Given the description of an element on the screen output the (x, y) to click on. 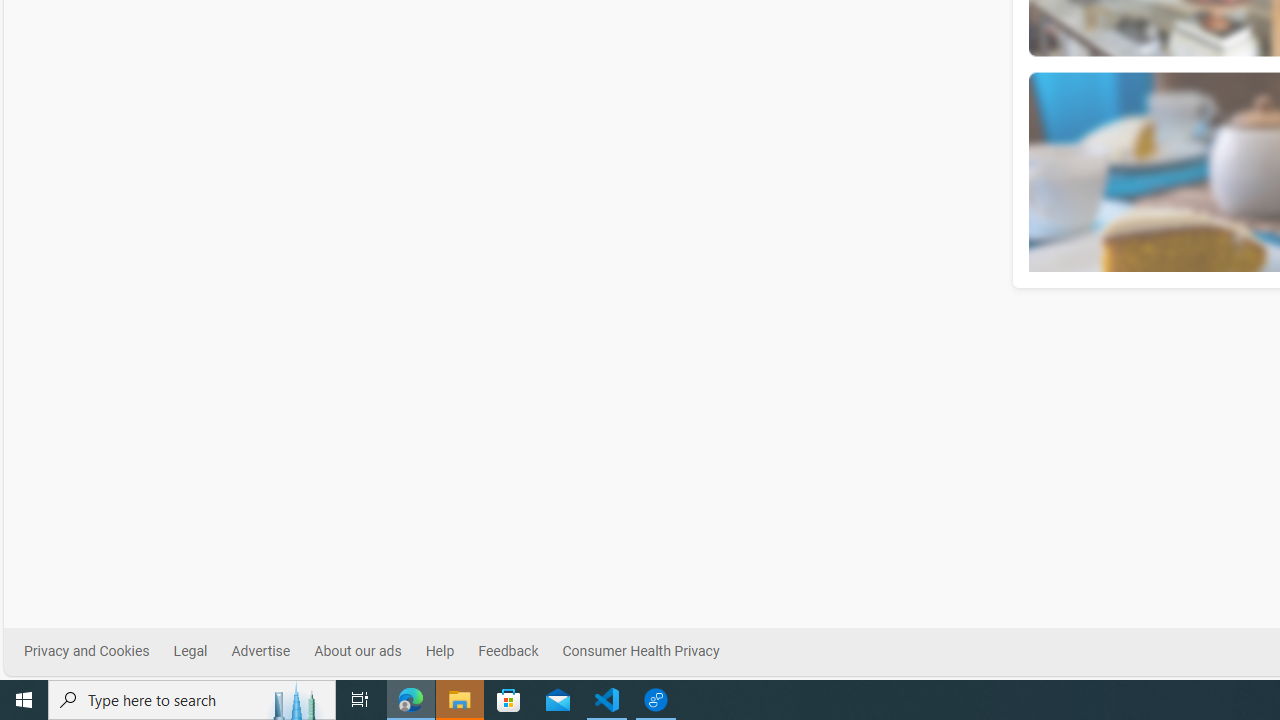
Privacy and Cookies (86, 651)
Consumer Health Privacy (652, 651)
About our ads (369, 651)
Legal (201, 651)
Privacy and Cookies (99, 651)
Advertise (260, 651)
Consumer Health Privacy (640, 651)
Help (439, 651)
Advertise (272, 651)
Help (451, 651)
Legal (189, 651)
About our ads (357, 651)
